Given the description of an element on the screen output the (x, y) to click on. 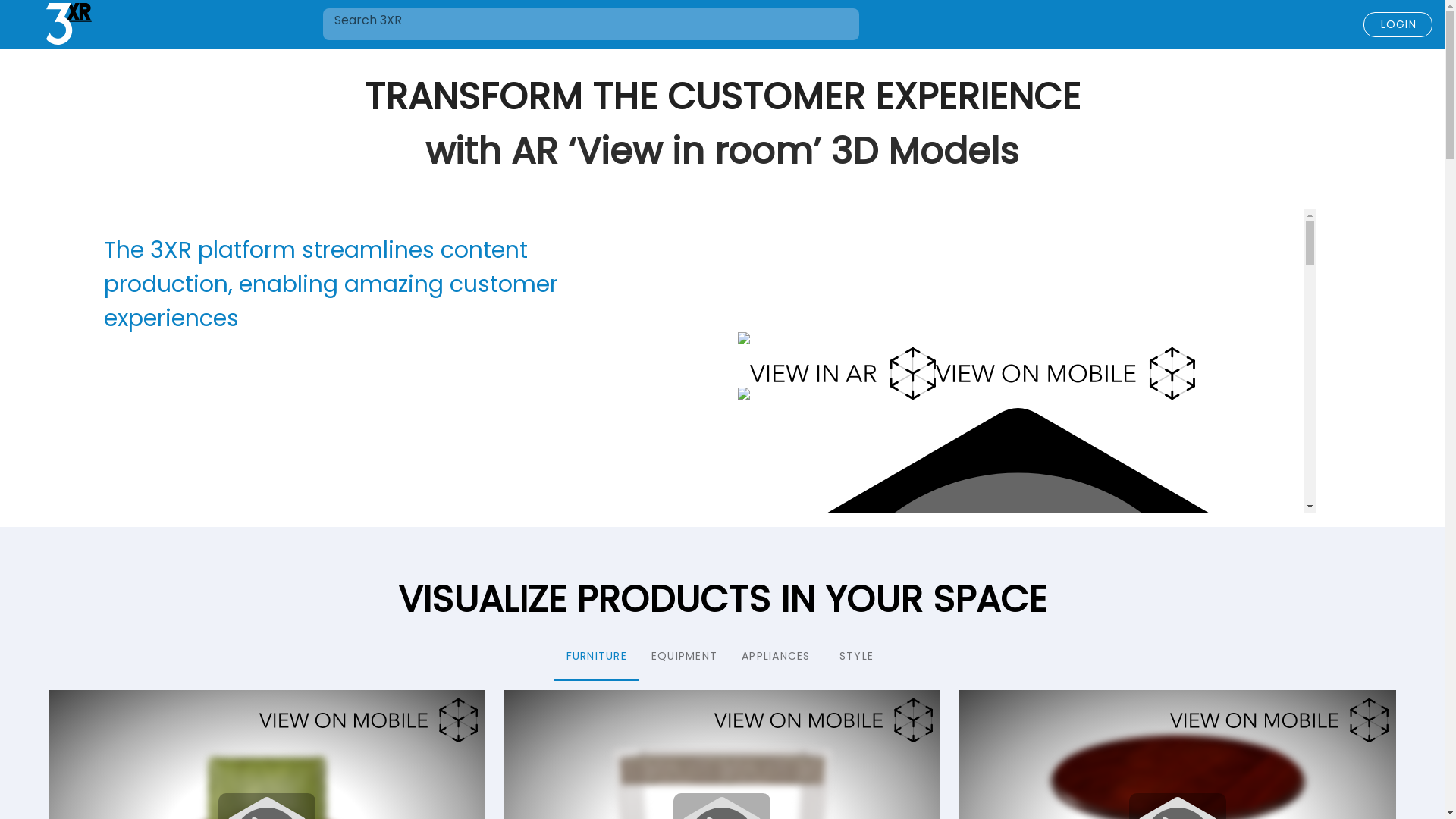
LOGIN Element type: text (1397, 23)
